Given the description of an element on the screen output the (x, y) to click on. 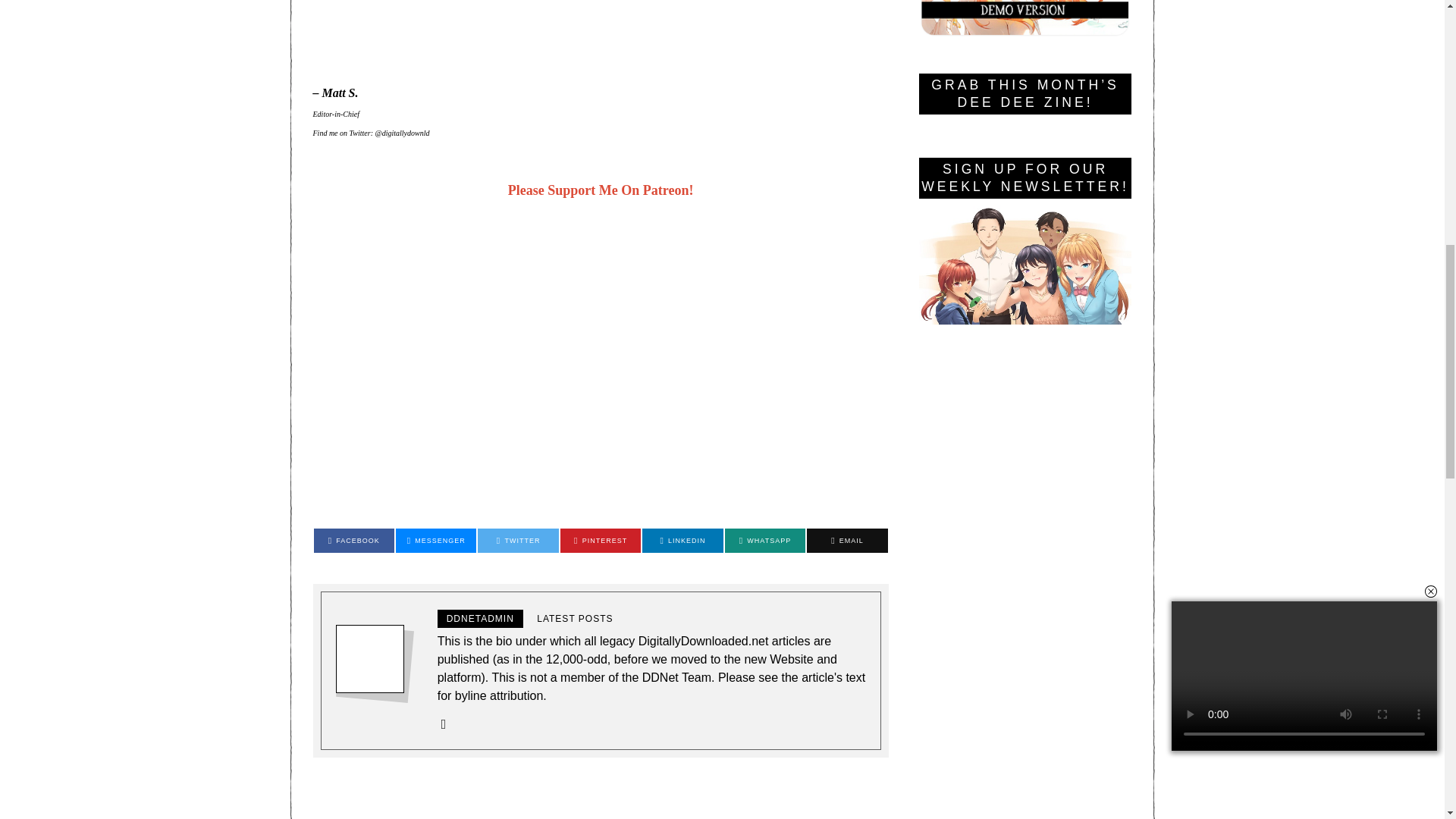
Linkedin (682, 540)
FACEBOOK (354, 540)
Pinterest (600, 540)
Whatsapp (765, 540)
MESSENGER (436, 540)
Email (846, 540)
Messenger (436, 540)
TWITTER (517, 540)
Please Support Me On Patreon! (1396, 20)
Twitter (601, 189)
PINTEREST (517, 540)
LINKEDIN (600, 540)
Facebook (682, 540)
